Given the description of an element on the screen output the (x, y) to click on. 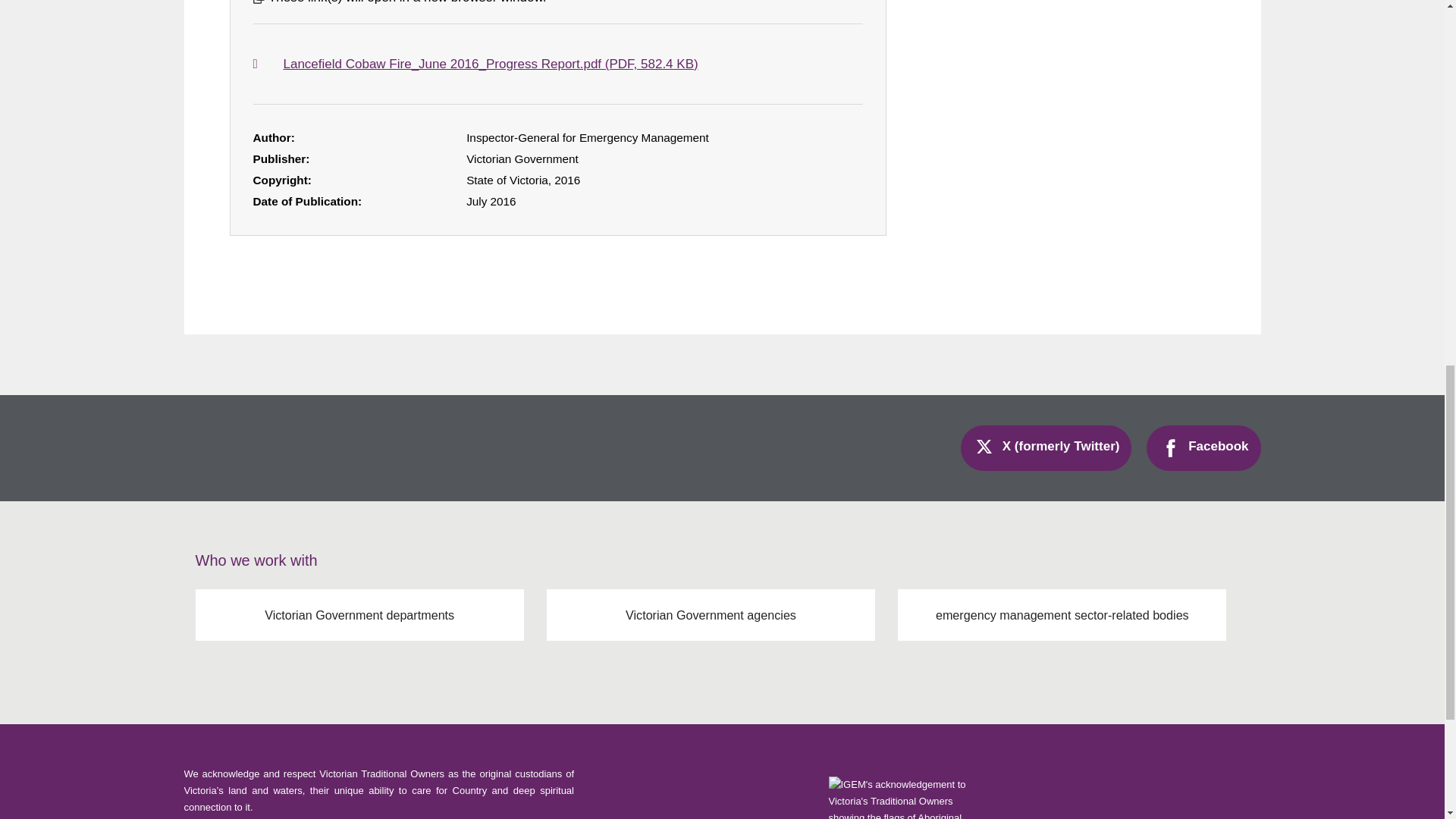
Open file in new window (558, 63)
